Given the description of an element on the screen output the (x, y) to click on. 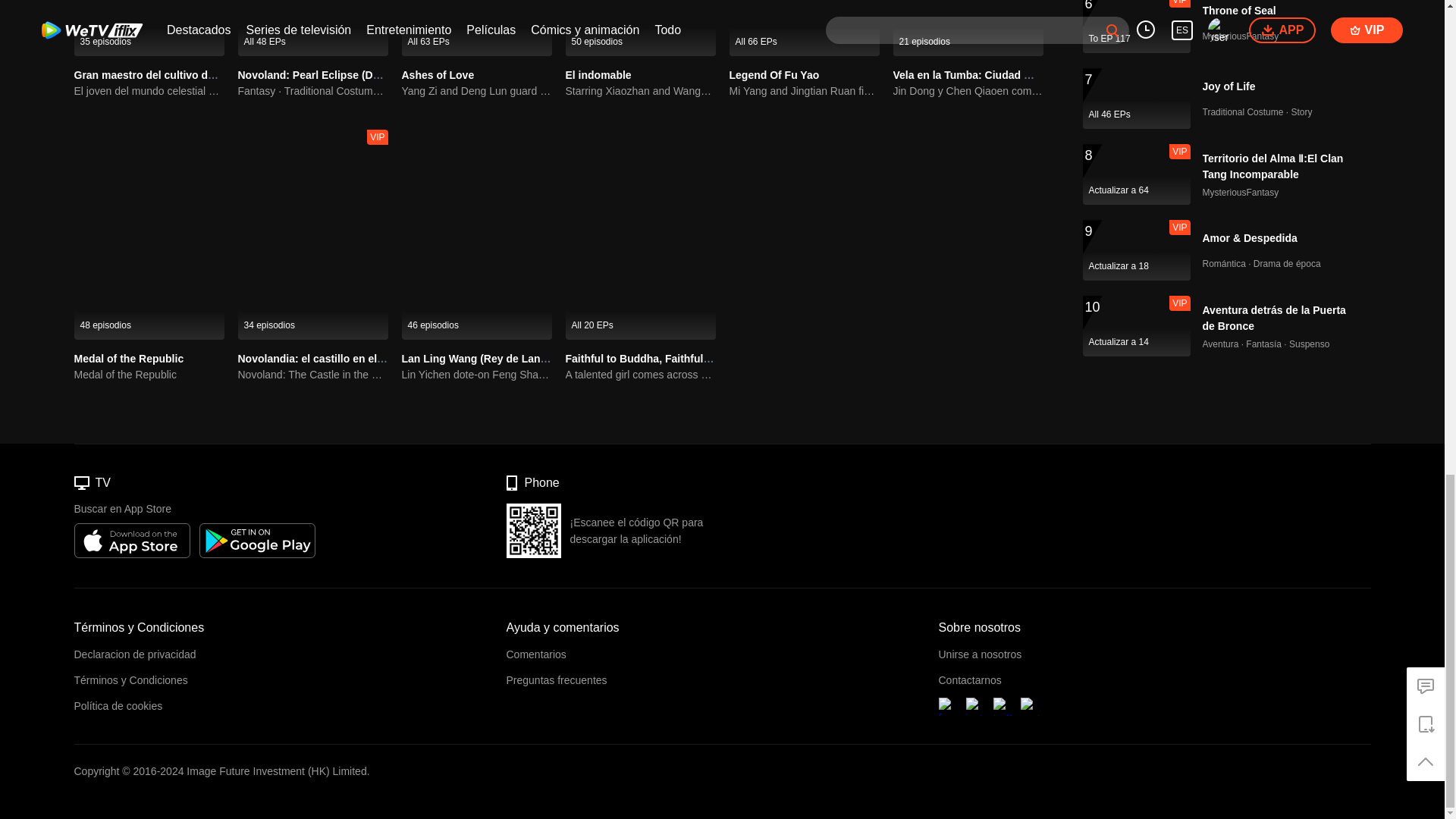
Jin Dong y Chen Qiaoen comienzaron una aventura (968, 91)
Starring Xiaozhan and Wangyibo (641, 91)
Vela en la Tumba: Ciudad Misteriosa (985, 74)
Medal of the Republic (129, 358)
Ashes of Love (476, 28)
Yang Zi and Deng Lun guard the a-thousand-year love (476, 91)
Vela en la Tumba: Ciudad Misteriosa (968, 28)
El indomable (641, 28)
Legend Of Fu Yao (804, 28)
